Given the description of an element on the screen output the (x, y) to click on. 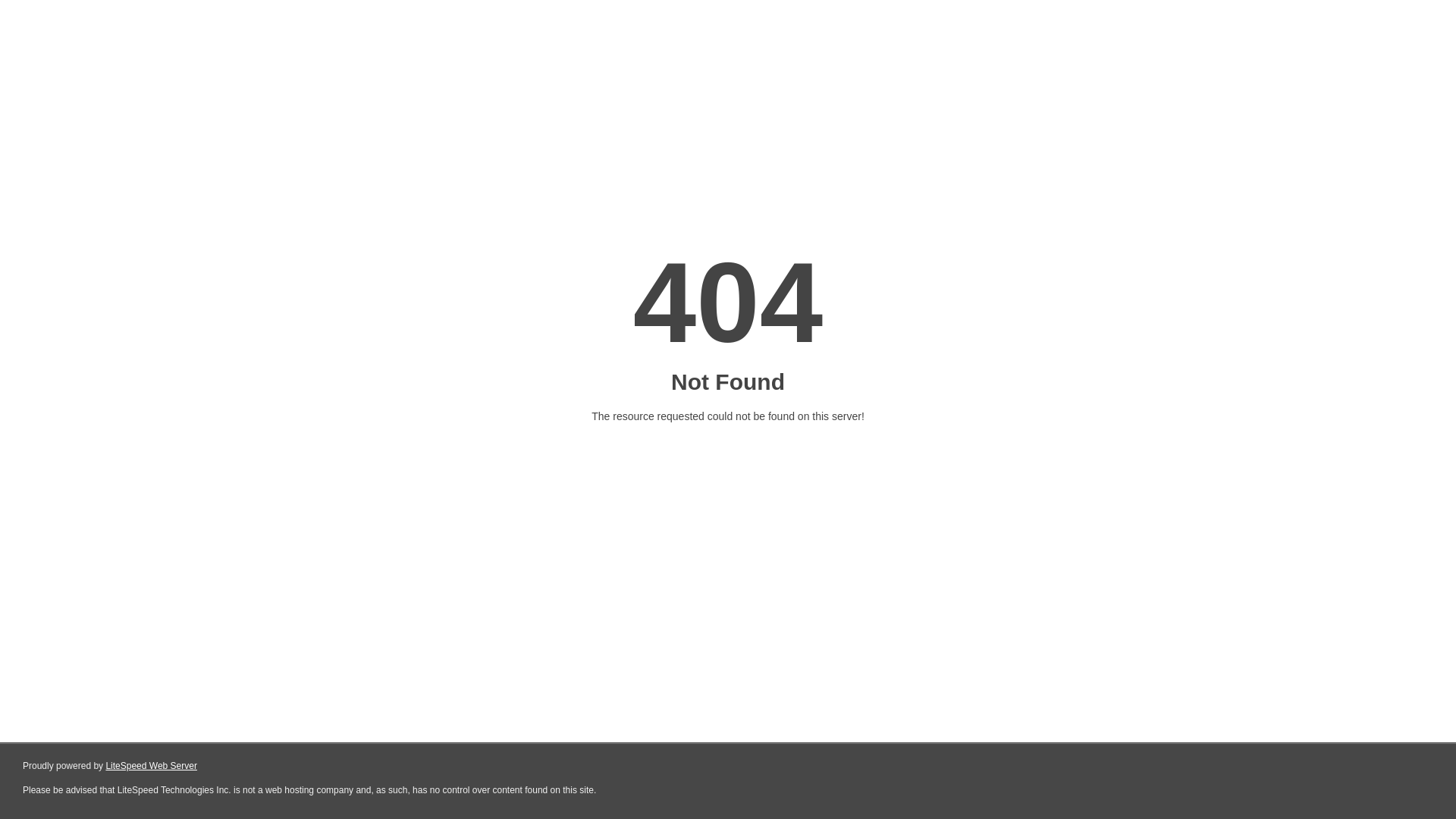
LiteSpeed Web Server Element type: text (151, 765)
